Given the description of an element on the screen output the (x, y) to click on. 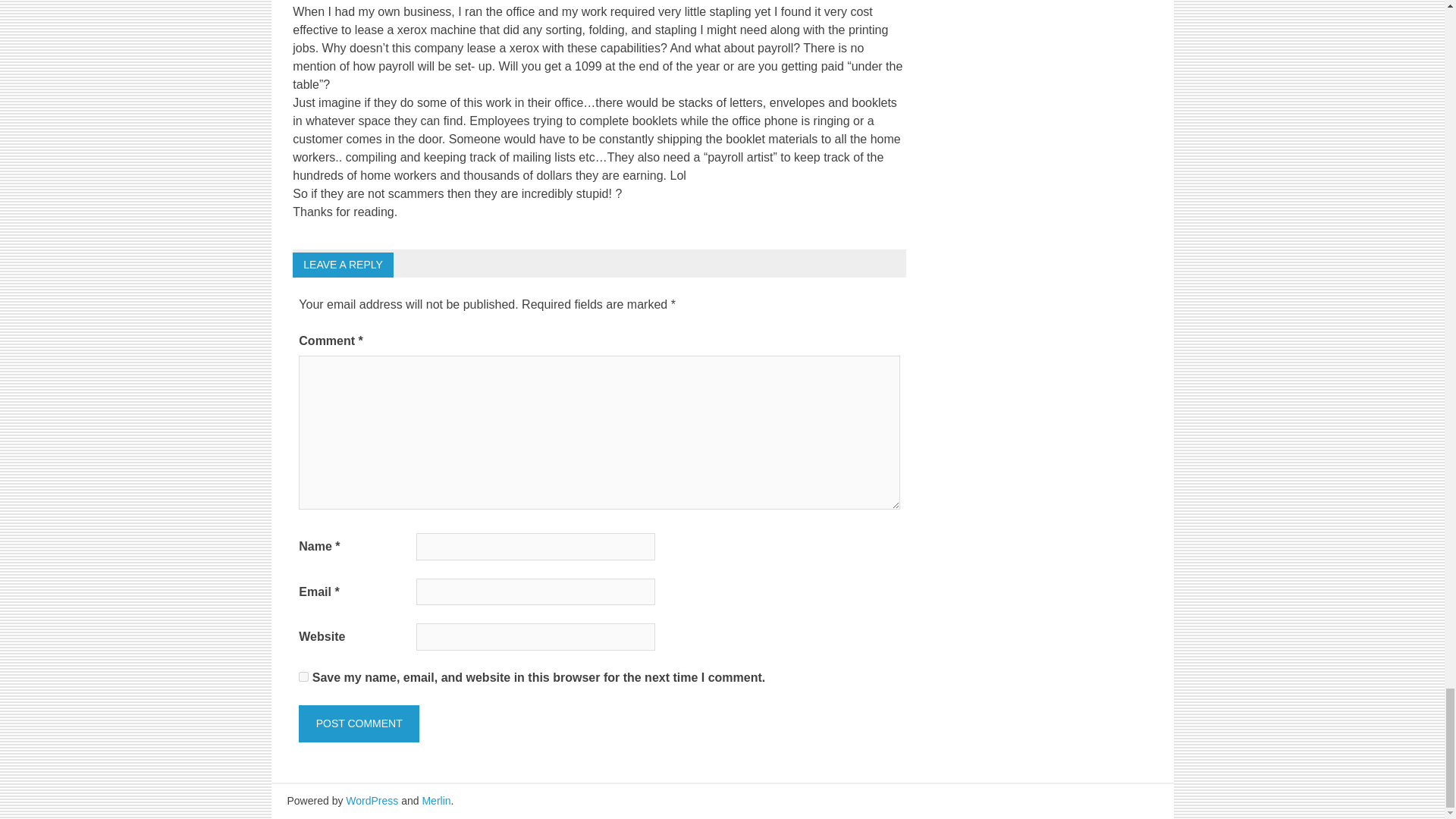
Merlin WordPress Theme (435, 800)
WordPress (371, 800)
Post Comment (358, 723)
yes (303, 676)
Post Comment (358, 723)
